Given the description of an element on the screen output the (x, y) to click on. 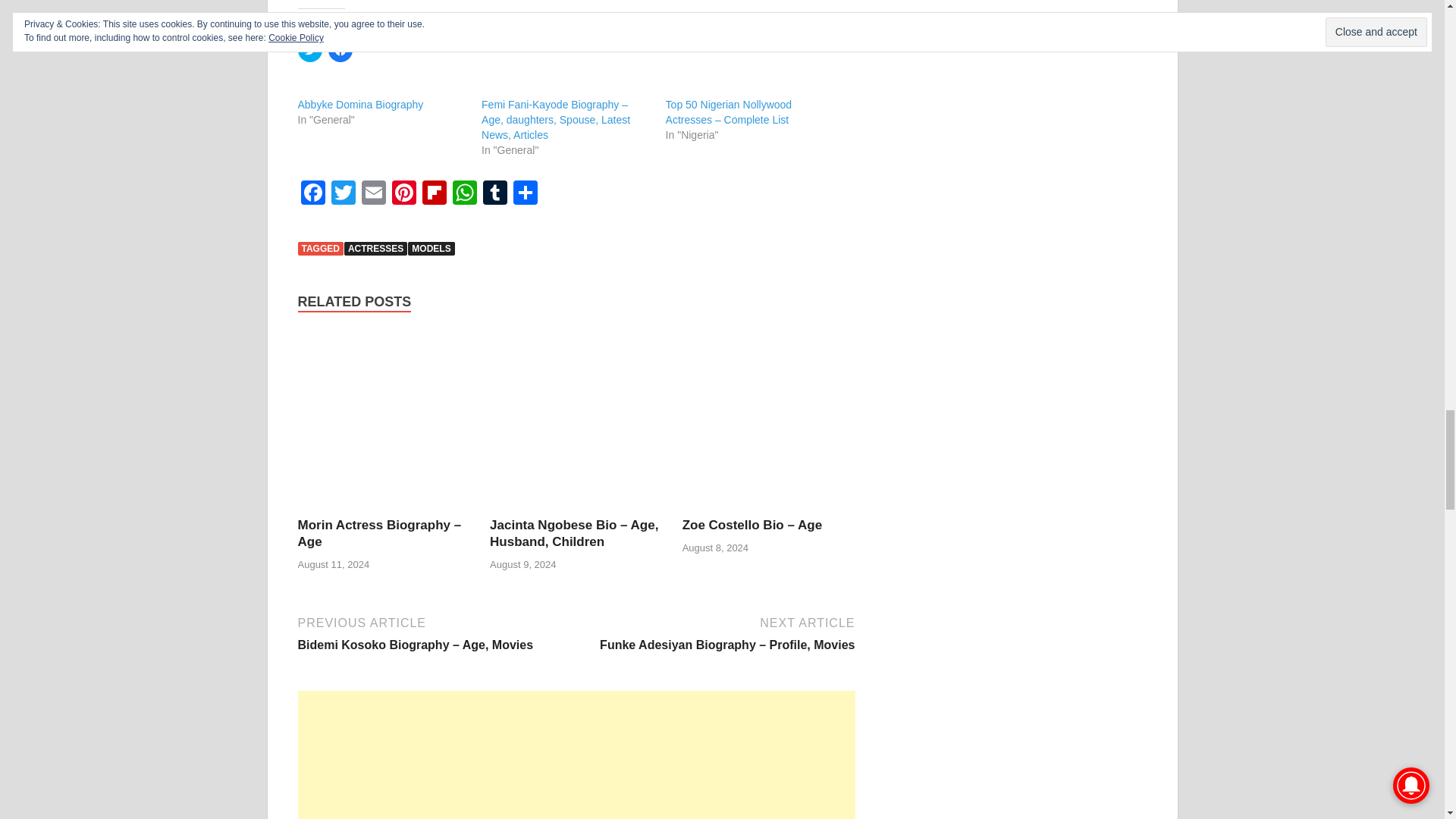
Click to share on Facebook (339, 49)
Email (373, 194)
Flipboard (433, 194)
Abbyke Domina Biography (360, 104)
WhatsApp (463, 194)
Twitter (342, 194)
Pinterest (403, 194)
Click to share on Twitter (309, 49)
Tumblr (494, 194)
Facebook (312, 194)
